Given the description of an element on the screen output the (x, y) to click on. 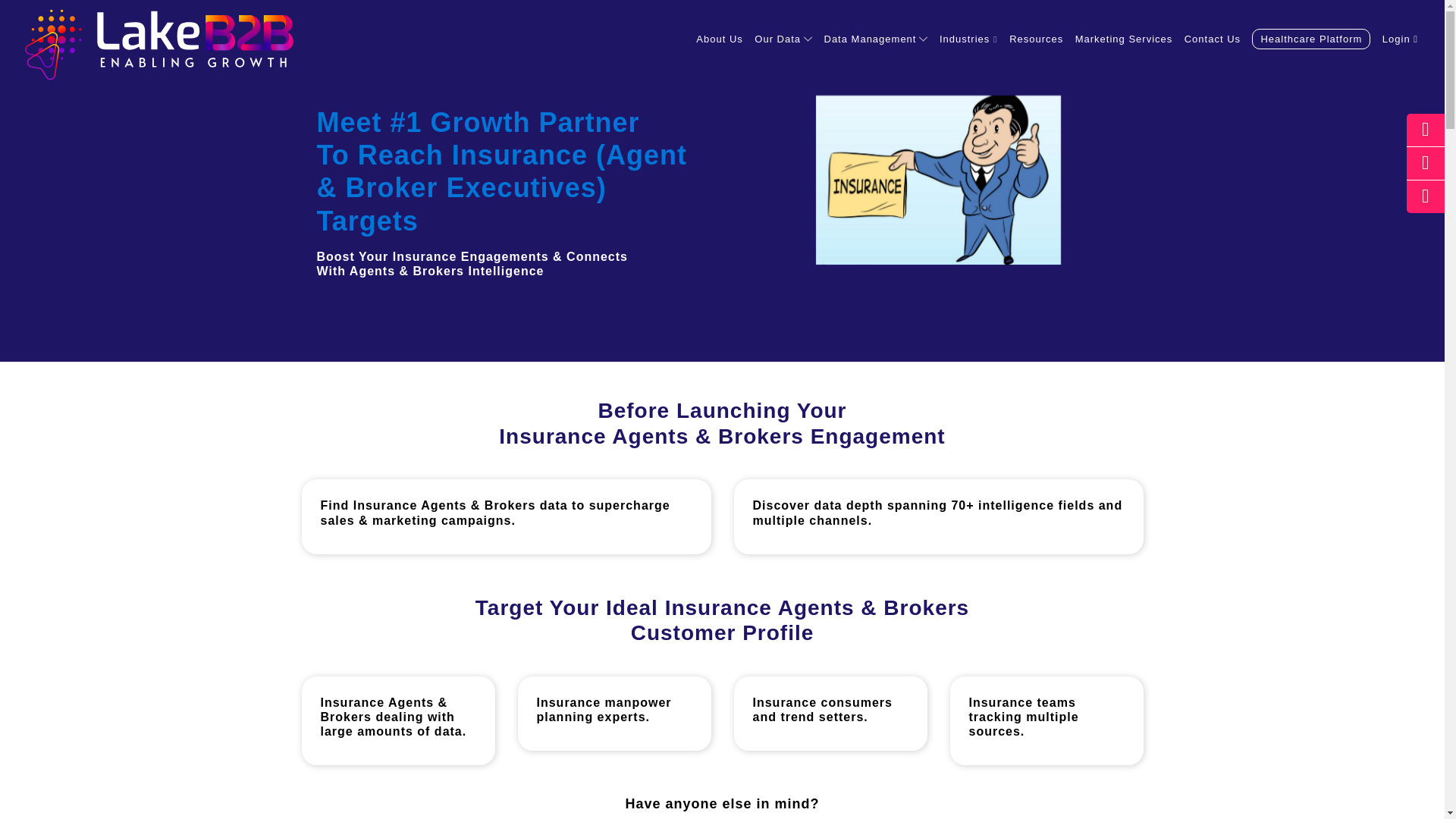
Resources (1036, 43)
Healthcare Platform (1311, 38)
Our Data (778, 43)
About Us (719, 43)
Industries (968, 44)
Marketing Services (1123, 43)
Contact Us (1212, 43)
Lake B2B (159, 44)
Data Management (870, 43)
Login (1400, 43)
